Given the description of an element on the screen output the (x, y) to click on. 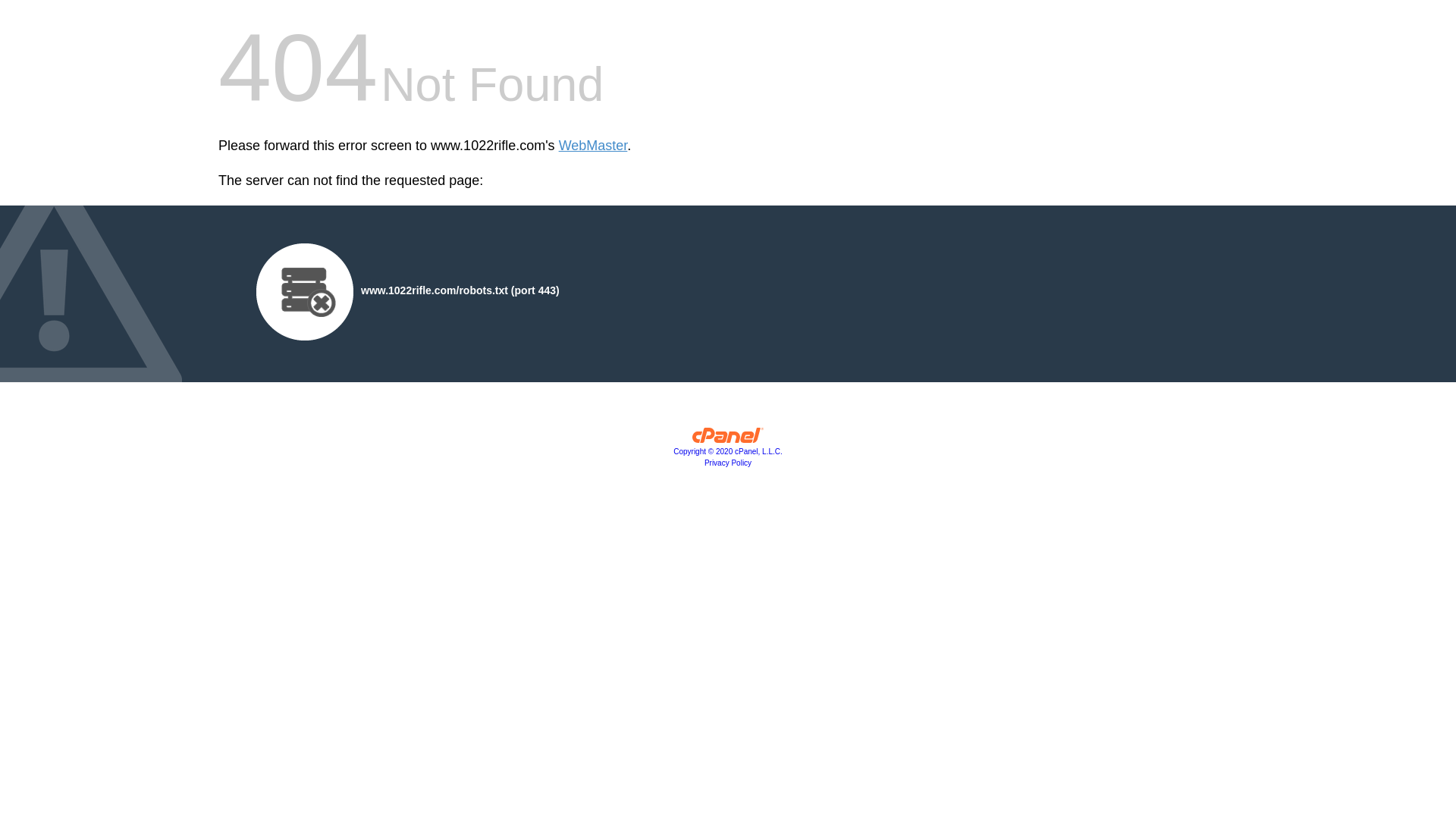
cPanel, Inc. Element type: hover (728, 439)
Privacy Policy Element type: text (727, 462)
WebMaster Element type: text (592, 145)
